Given the description of an element on the screen output the (x, y) to click on. 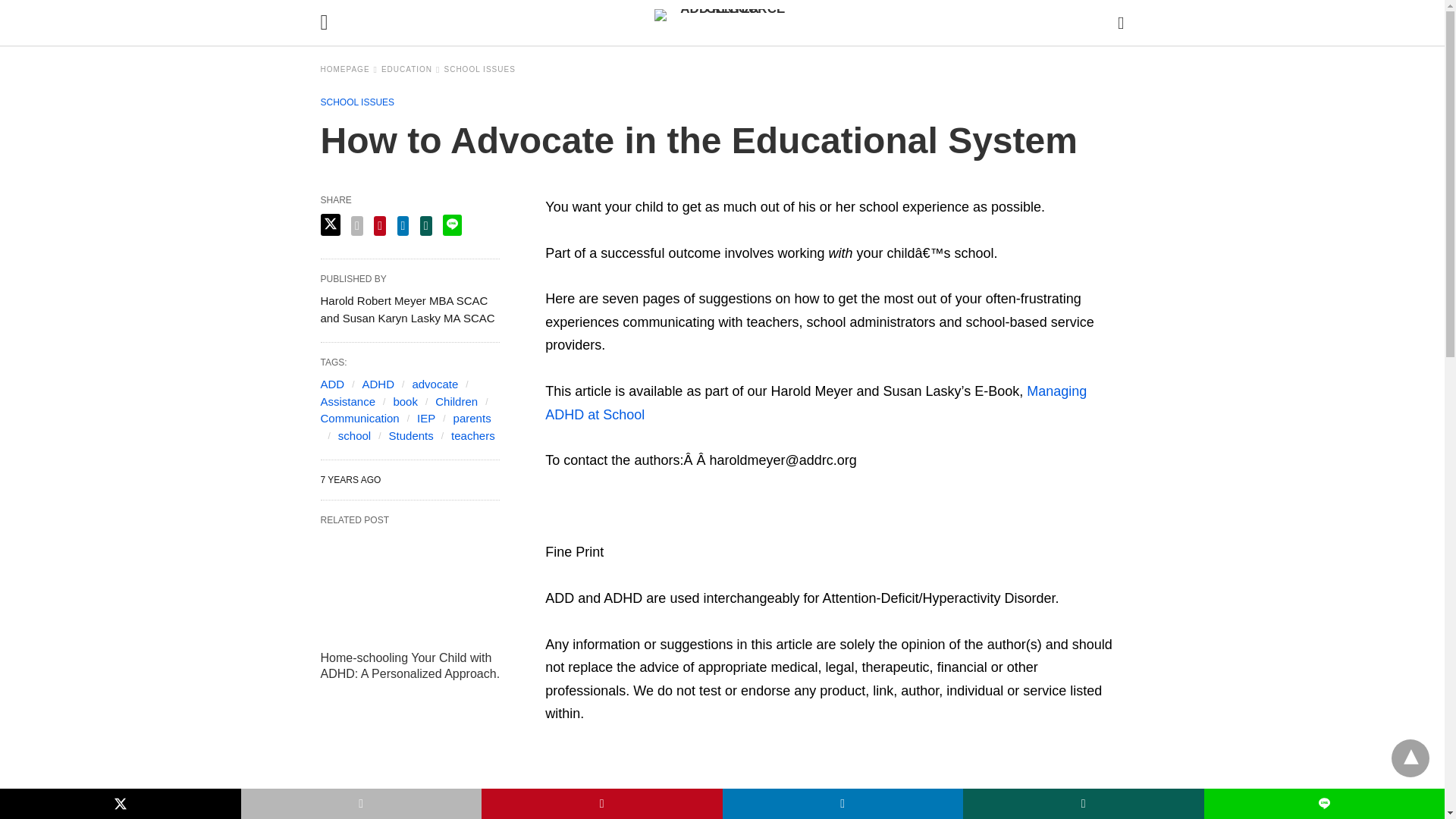
HOMEPAGE (348, 69)
Children (456, 400)
parents (472, 418)
Communication (359, 418)
advocate (435, 383)
teachers (473, 435)
parents (472, 418)
school (354, 435)
school (354, 435)
Assistance (347, 400)
IEP (425, 418)
ADD (331, 383)
Managing ADHD at School (815, 403)
ADD Resource Center (725, 22)
ADD (331, 383)
